Given the description of an element on the screen output the (x, y) to click on. 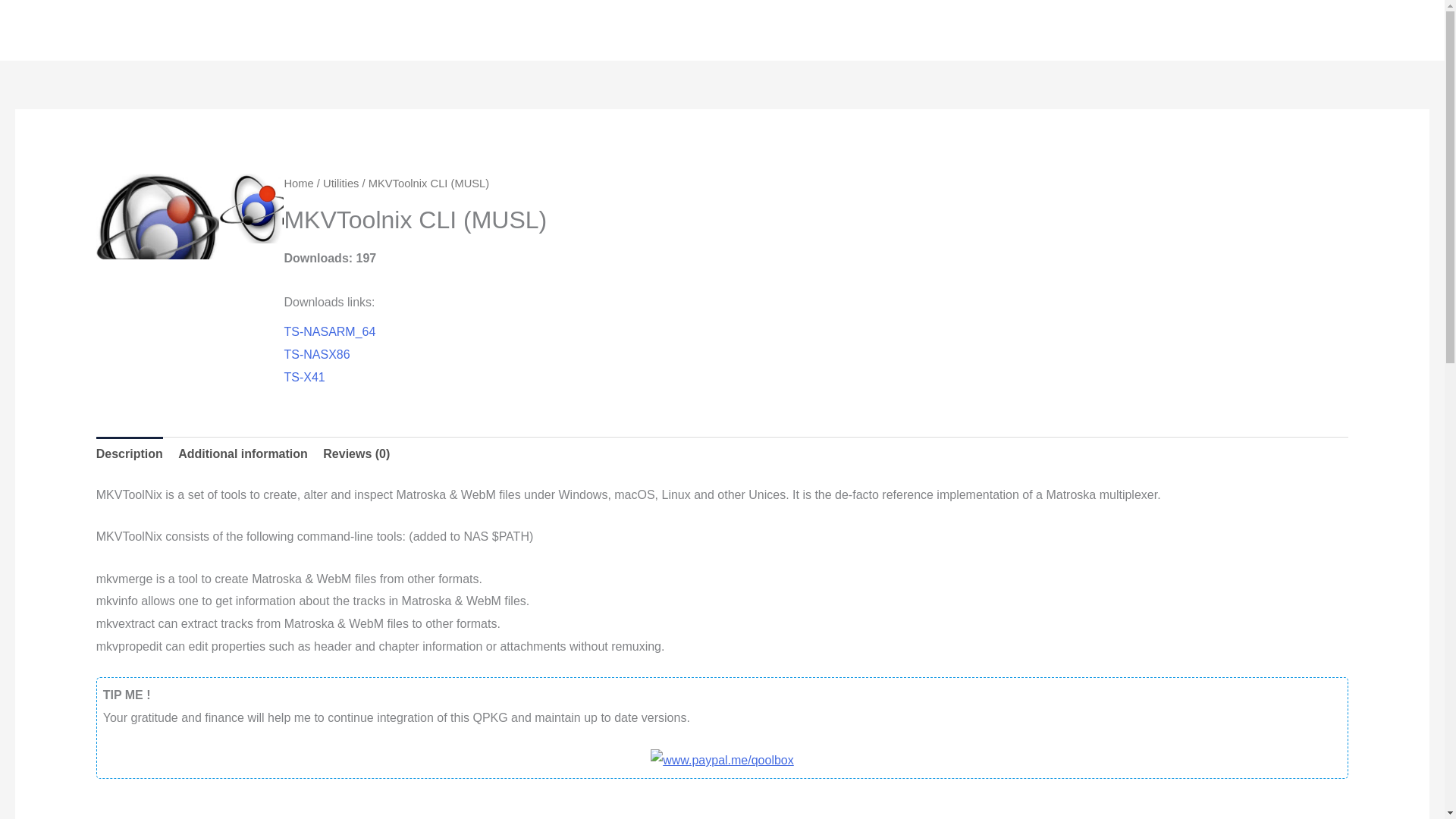
mkvtoolnix-logo (157, 234)
Donate (721, 758)
TS-X41 (303, 377)
TS-NASX86 (316, 354)
Applications (861, 30)
Install the REPO (989, 30)
Description (129, 453)
Discord (1169, 30)
Archives (1256, 30)
mkvtoolnix-ui (280, 208)
